Given the description of an element on the screen output the (x, y) to click on. 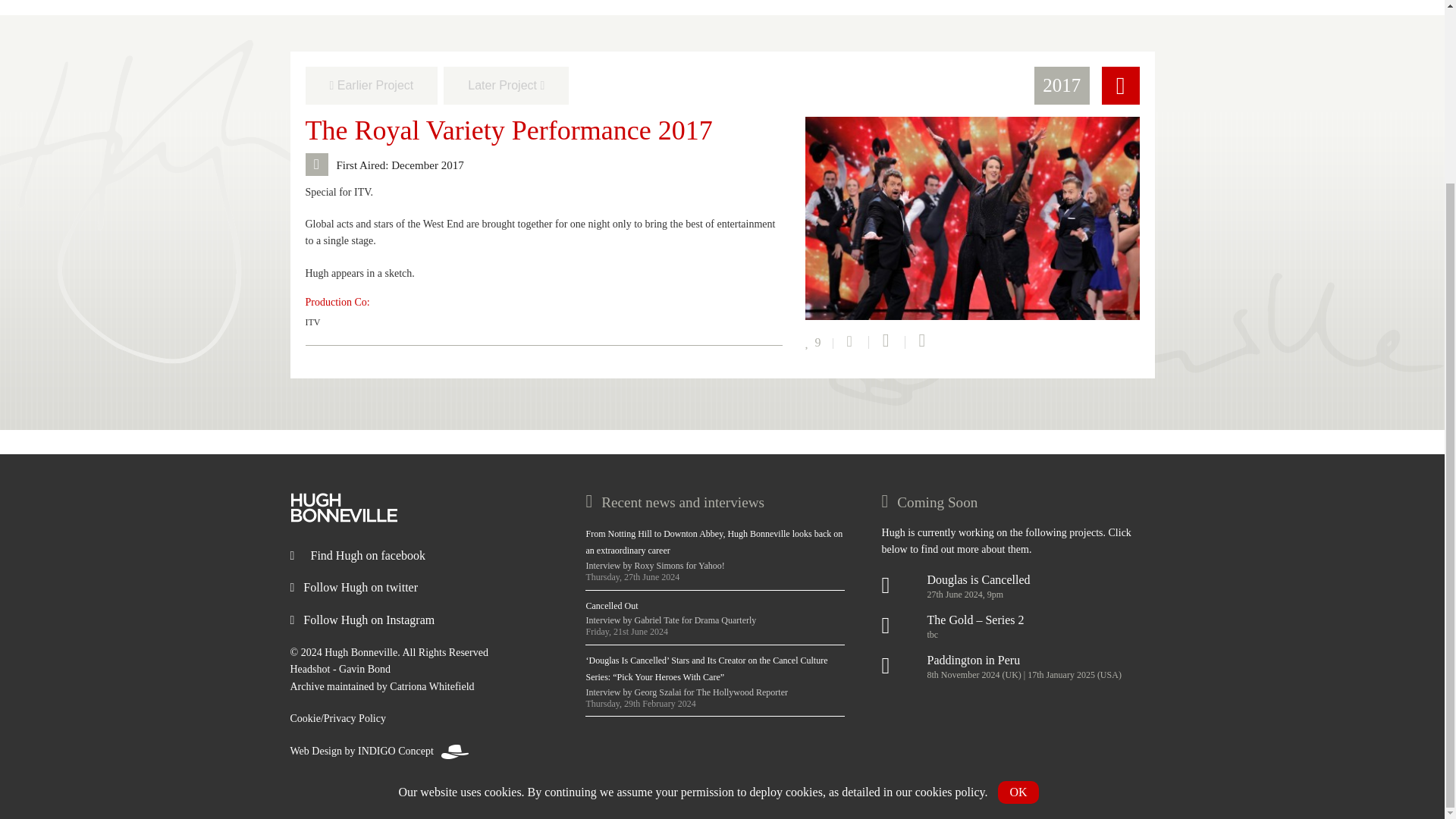
Pin this (918, 341)
Click to go to Hugh's facebook page (357, 554)
Hampshire Website Design by INDIGO Concept (378, 750)
Share this (850, 341)
CHARITY NEWS (594, 17)
More on Douglas is Cancelled (1018, 580)
cookies policy (950, 565)
Later Project (506, 85)
The Royal Variety Performance 2017. Photo: ITV (972, 216)
Love this (818, 343)
Earlier Project (371, 85)
Film (904, 665)
Project type: Television (1119, 85)
OK (1017, 566)
Television (904, 585)
